Given the description of an element on the screen output the (x, y) to click on. 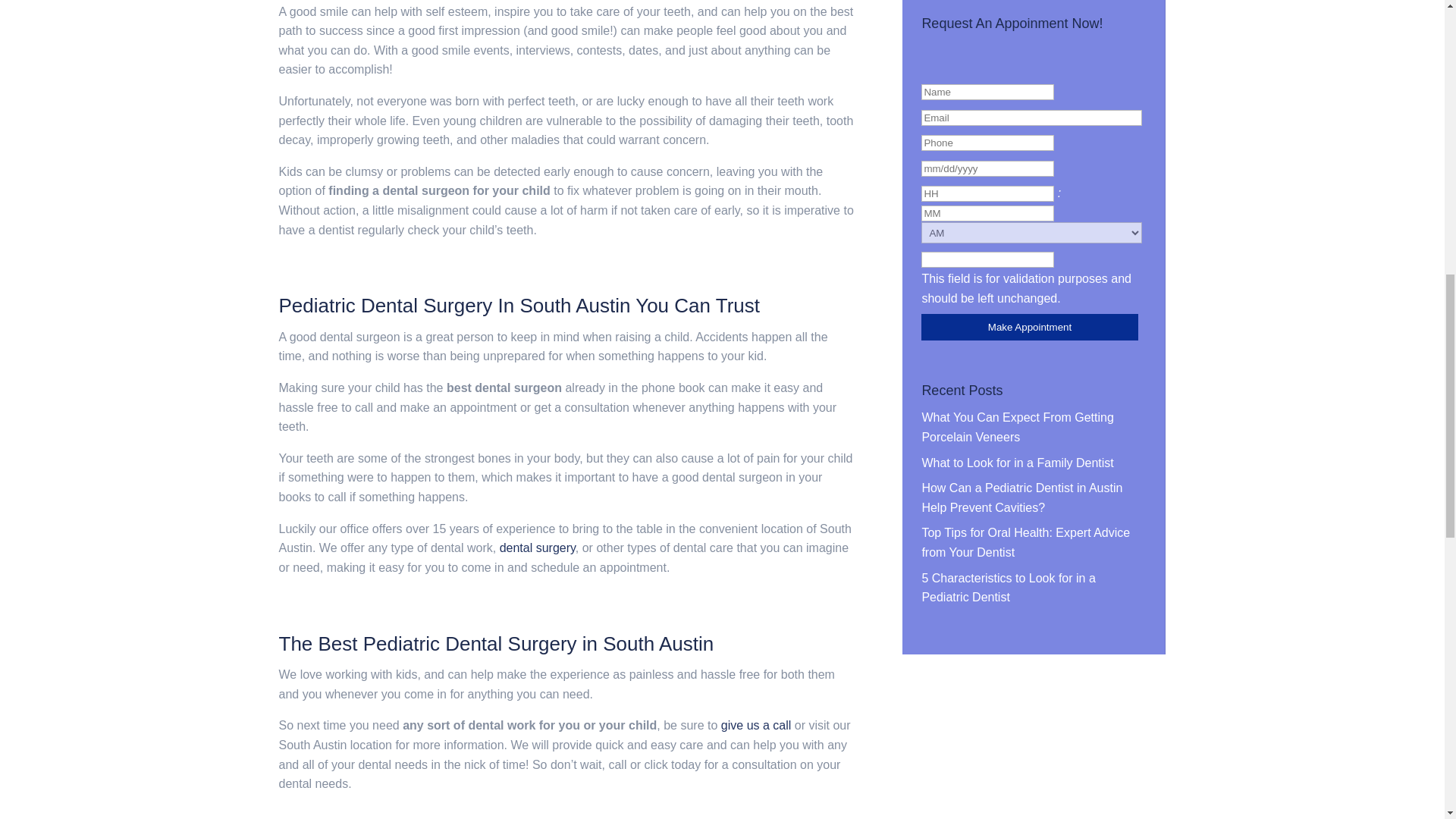
Make Appointment (1029, 326)
What You Can Expect From Getting Porcelain Veneers (1017, 427)
Top Tips for Oral Health: Expert Advice from Your Dentist (1025, 542)
What to Look for in a Family Dentist (1017, 462)
5 Characteristics to Look for in a Pediatric Dentist (1007, 587)
give us a call (756, 725)
Make Appointment (1029, 326)
How Can a Pediatric Dentist in Austin Help Prevent Cavities? (1021, 497)
dental surgery (537, 547)
